Given the description of an element on the screen output the (x, y) to click on. 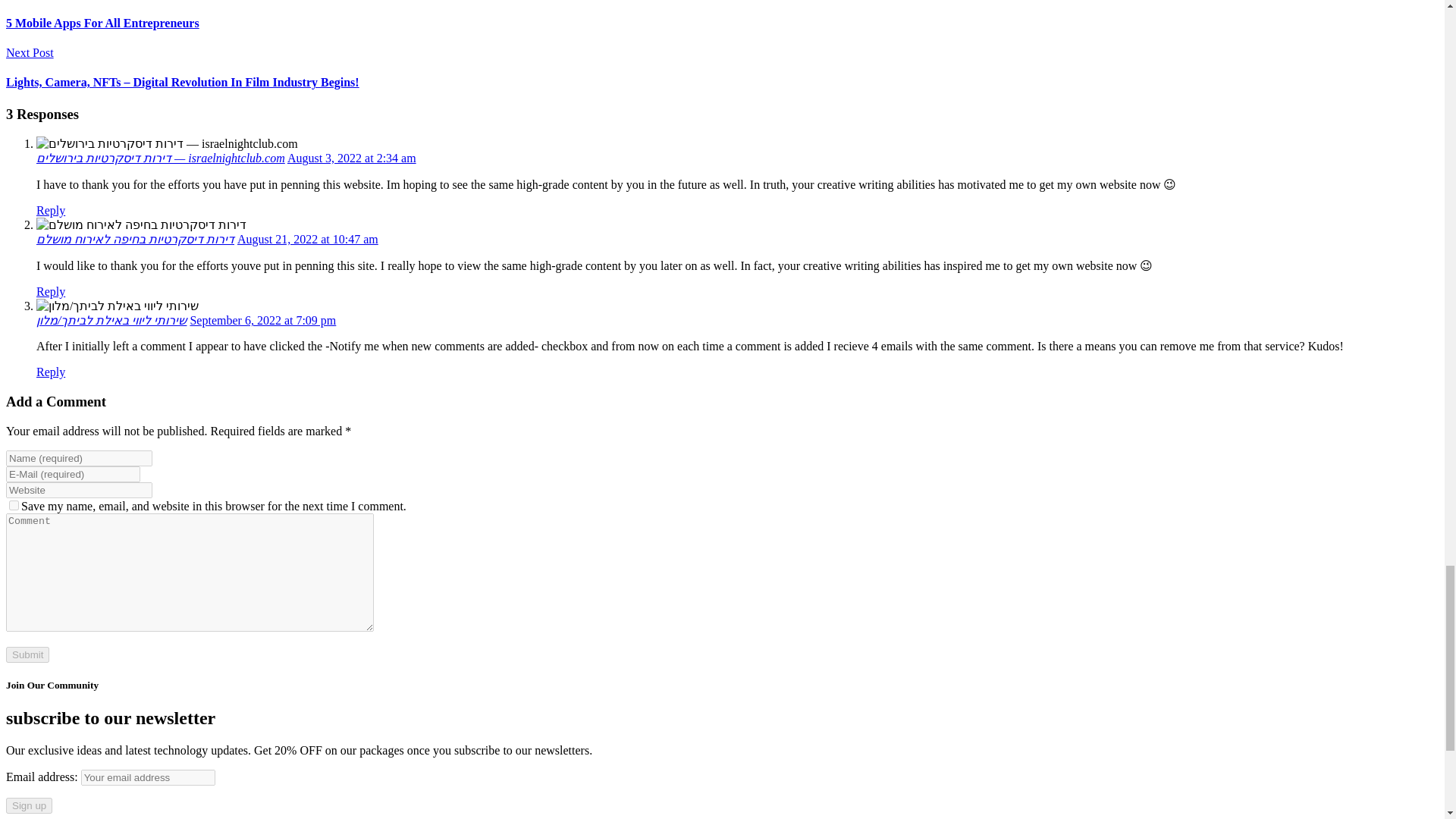
Reply (50, 210)
Reply (50, 371)
Submit (27, 654)
Reply (50, 291)
yes (13, 505)
Sign up (28, 805)
August 3, 2022 at 2:34 am (351, 157)
Submit (27, 654)
September 6, 2022 at 7:09 pm (262, 319)
August 21, 2022 at 10:47 am (307, 238)
